Given the description of an element on the screen output the (x, y) to click on. 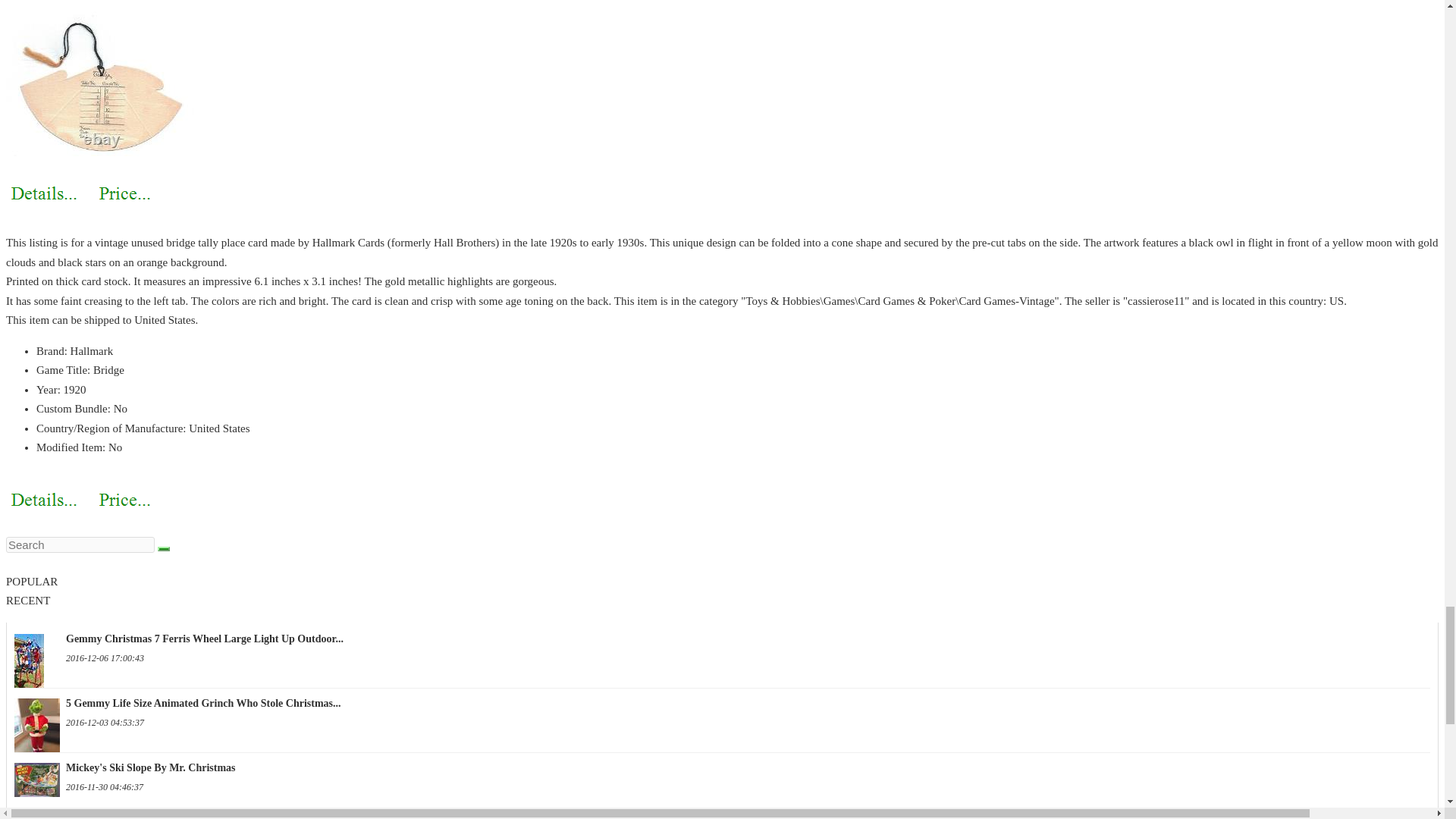
Mickey's Ski Slope By Mr. Christmas (36, 783)
Mickey's Ski Slope By Mr. Christmas (721, 768)
